Given the description of an element on the screen output the (x, y) to click on. 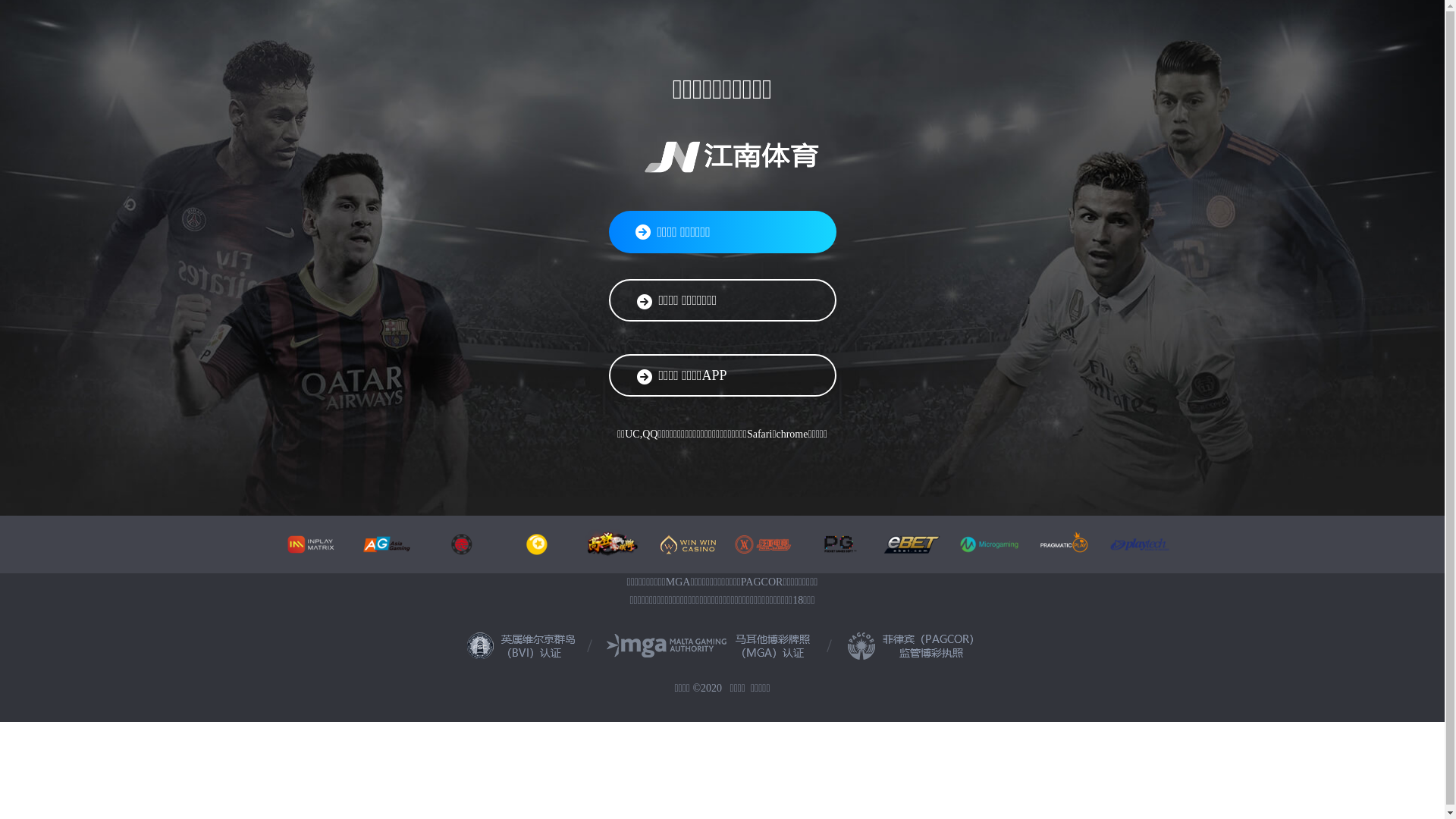
MORE+ Element type: text (371, 773)
